Given the description of an element on the screen output the (x, y) to click on. 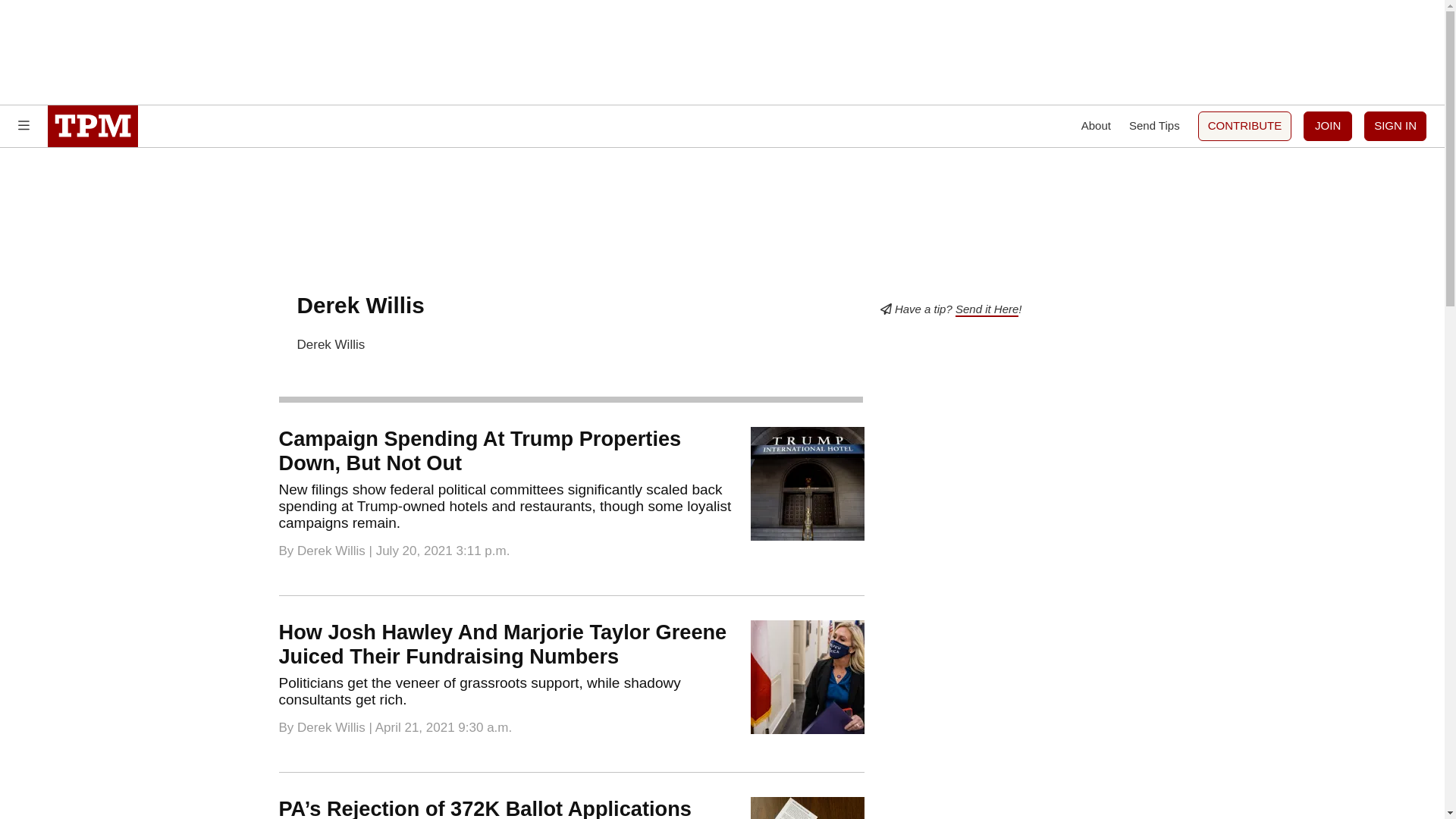
JOIN (1327, 125)
Send Tips (1154, 125)
Campaign Spending At Trump Properties Down, But Not Out (480, 450)
SIGN IN (1395, 125)
About (1095, 125)
Send it Here (986, 309)
CONTRIBUTE (1245, 125)
